Given the description of an element on the screen output the (x, y) to click on. 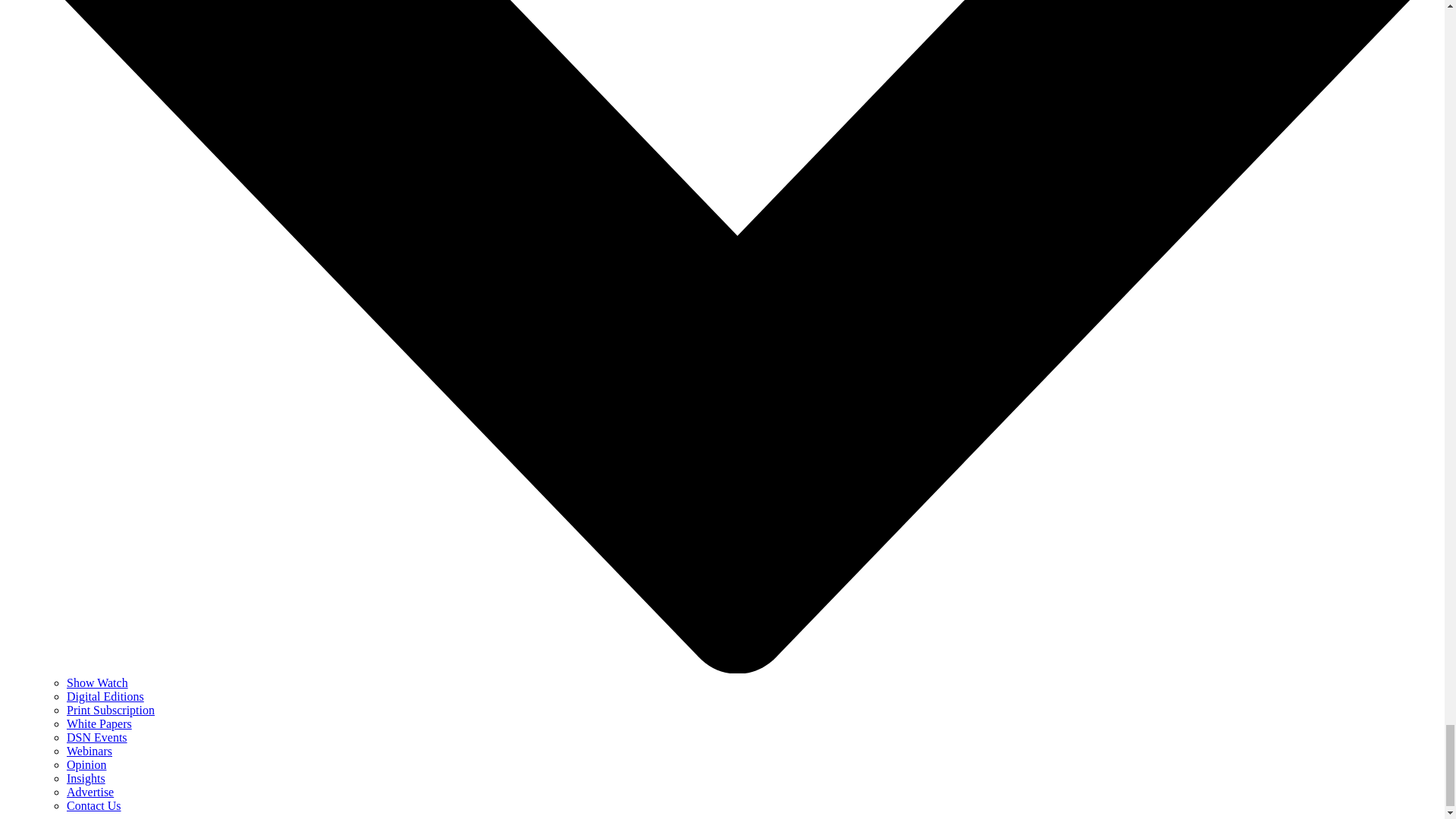
Print Subscription (110, 709)
Webinars (89, 750)
Contact Us (93, 805)
Advertise (89, 791)
Insights (85, 778)
Show Watch (97, 682)
DSN Events (97, 737)
White Papers (99, 723)
Digital Editions (105, 696)
Opinion (86, 764)
